Given the description of an element on the screen output the (x, y) to click on. 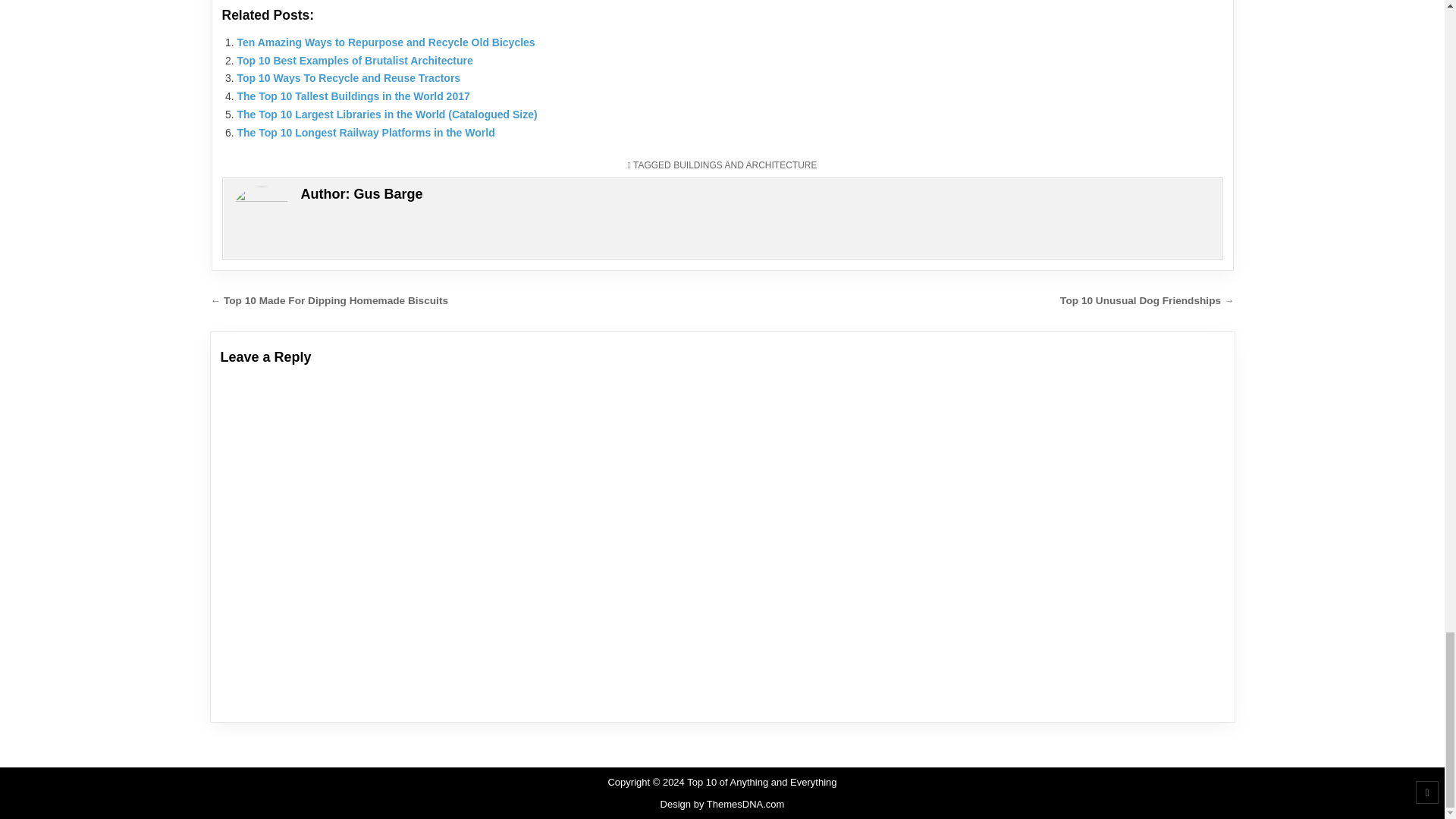
The Top 10 Tallest Buildings in the World 2017 (351, 96)
The Top 10 Longest Railway Platforms in the World (365, 132)
Ten Amazing Ways to Repurpose and Recycle Old Bicycles (384, 42)
Top 10 Best Examples of Brutalist Architecture (353, 60)
The Top 10 Tallest Buildings in the World 2017 (351, 96)
Top 10 Ways To Recycle and Reuse Tractors (347, 78)
Design by ThemesDNA.com (722, 803)
Ten Amazing Ways to Repurpose and Recycle Old Bicycles (384, 42)
BUILDINGS AND ARCHITECTURE (744, 164)
Top 10 Best Examples of Brutalist Architecture (353, 60)
